Given the description of an element on the screen output the (x, y) to click on. 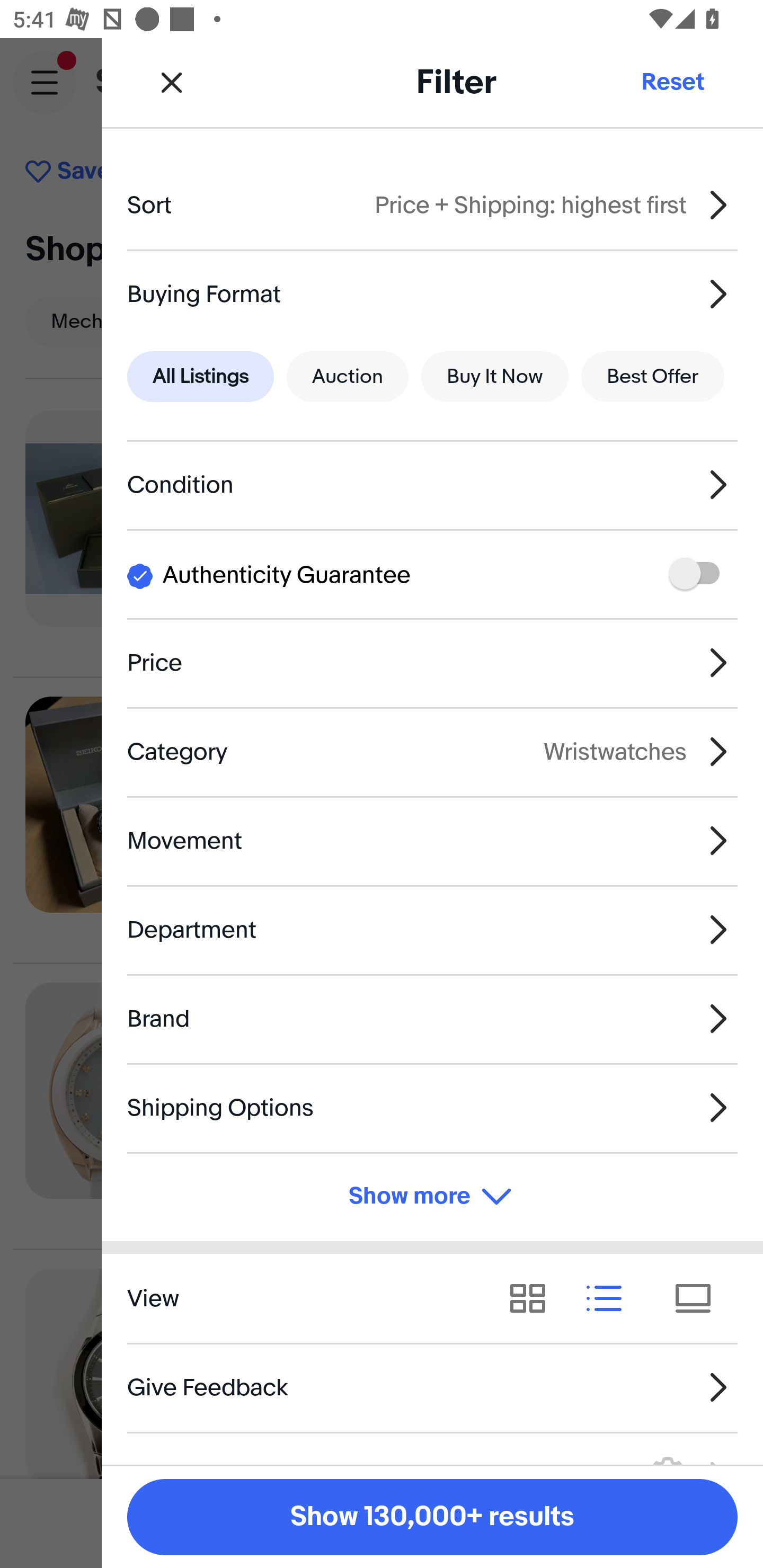
Close Filter (171, 81)
Reset (672, 81)
Buying Format (432, 293)
All Listings (200, 376)
Auction (347, 376)
Buy It Now (494, 376)
Best Offer (652, 376)
Condition (432, 484)
I  Authenticity Guarantee (432, 573)
Price (432, 662)
Category Wristwatches (432, 751)
Movement (432, 840)
Department (432, 929)
Brand (432, 1018)
Shipping Options (432, 1107)
Show more (432, 1196)
View results as grid (533, 1297)
View results as list (610, 1297)
View results as tiles (699, 1297)
Show 130,000+ results (432, 1516)
